Given the description of an element on the screen output the (x, y) to click on. 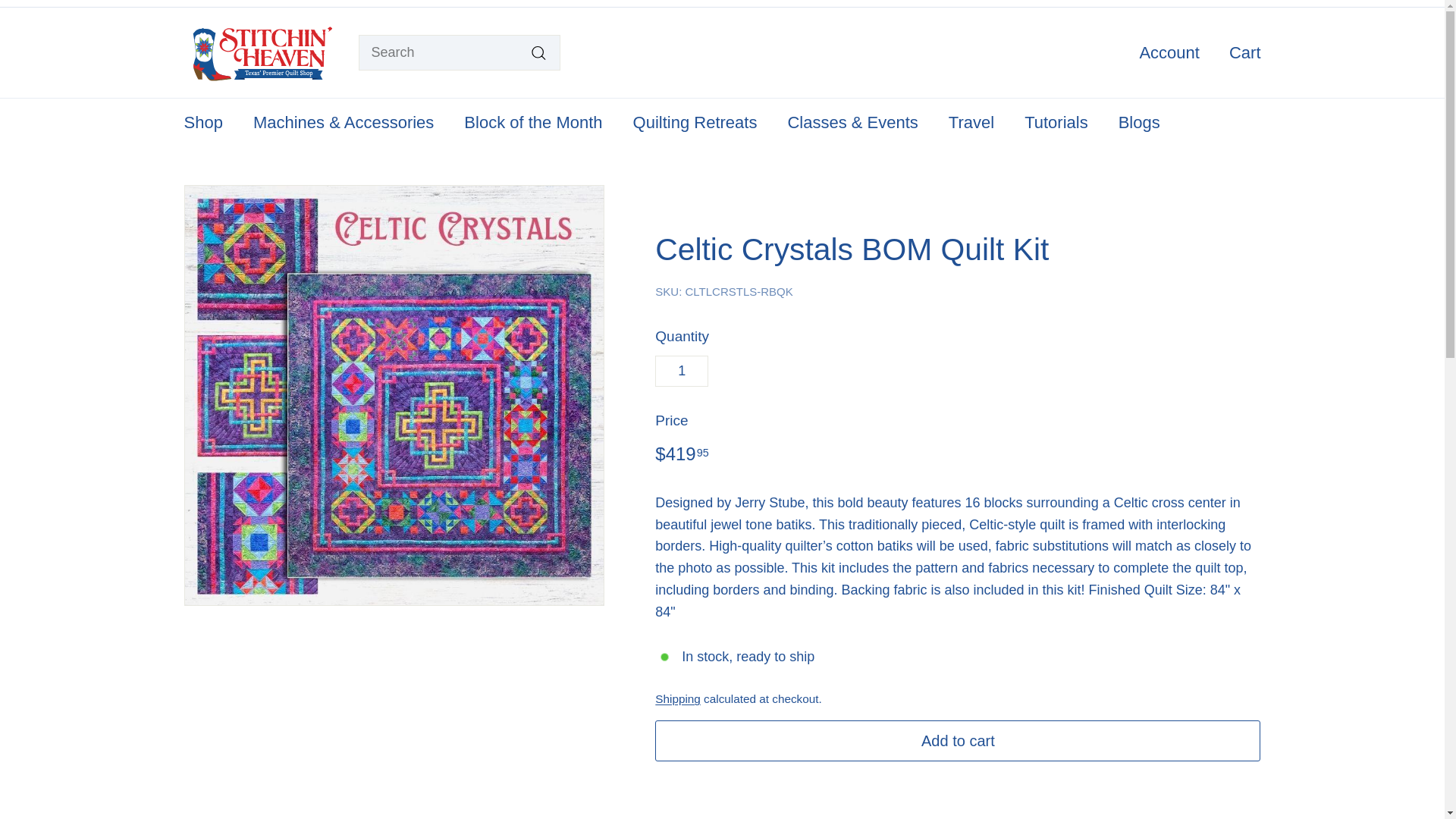
Stitchin Heaven on Instagram (1226, 3)
Facebook (1233, 3)
Twitter (1248, 3)
Instagram (1226, 3)
Pinterest (1256, 3)
1 (681, 370)
YouTube (1240, 3)
Stitchin Heaven on Twitter (1248, 3)
Cart (1238, 51)
Stitchin Heaven on Pinterest (1256, 3)
